Given the description of an element on the screen output the (x, y) to click on. 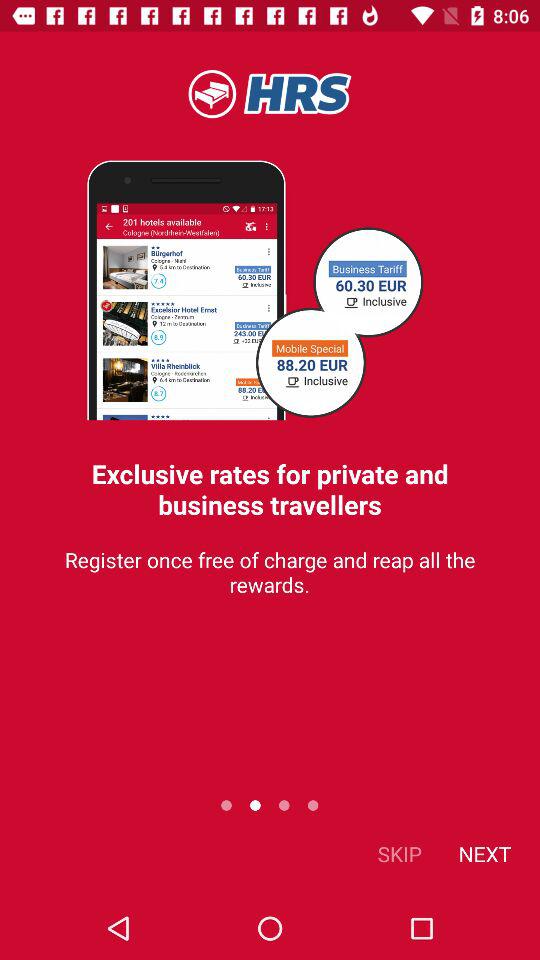
turn on the skip item (399, 853)
